Given the description of an element on the screen output the (x, y) to click on. 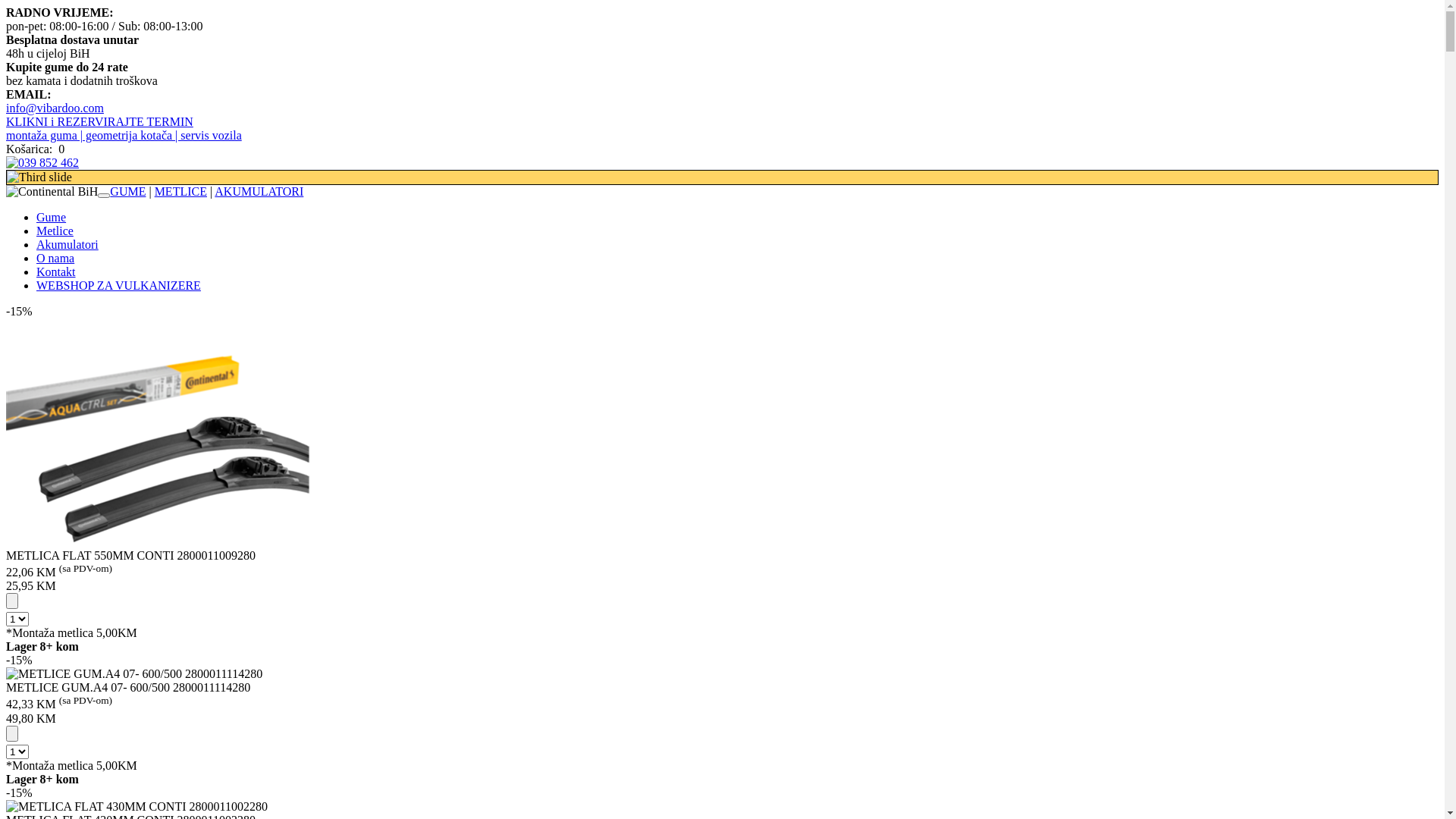
Metlice Element type: text (54, 230)
METLICE Element type: text (180, 191)
GUME Element type: text (127, 191)
Gume Element type: text (50, 216)
EMAIL:
info@vibardoo.com Element type: text (722, 101)
O nama Element type: text (55, 257)
WEBSHOP ZA VULKANIZERE Element type: text (118, 285)
039 852 462 Element type: hover (42, 162)
info@vibardoo.com Element type: text (54, 107)
Akumulatori Element type: text (67, 244)
AKUMULATORI Element type: text (258, 191)
Kontakt Element type: text (55, 271)
